Given the description of an element on the screen output the (x, y) to click on. 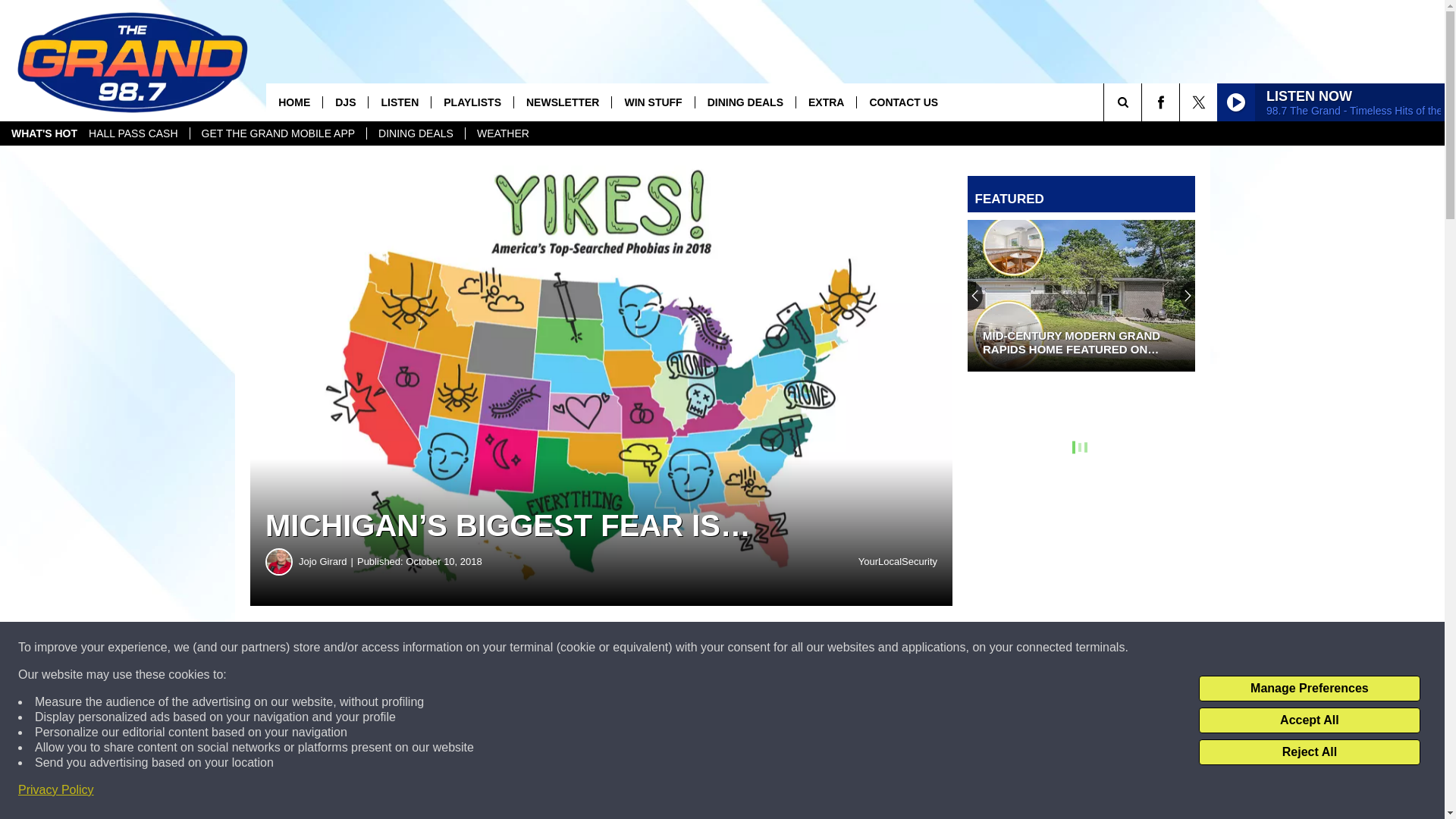
GET THE GRAND MOBILE APP (277, 133)
Privacy Policy (55, 789)
WIN STUFF (652, 102)
DINING DEALS (415, 133)
Manage Preferences (1309, 688)
SEARCH (1144, 102)
SEARCH (1144, 102)
Reject All (1309, 751)
PLAYLISTS (471, 102)
CONTACT US (903, 102)
LISTEN (399, 102)
DINING DEALS (744, 102)
WEATHER (502, 133)
EXTRA (825, 102)
NEWSLETTER (562, 102)
